Given the description of an element on the screen output the (x, y) to click on. 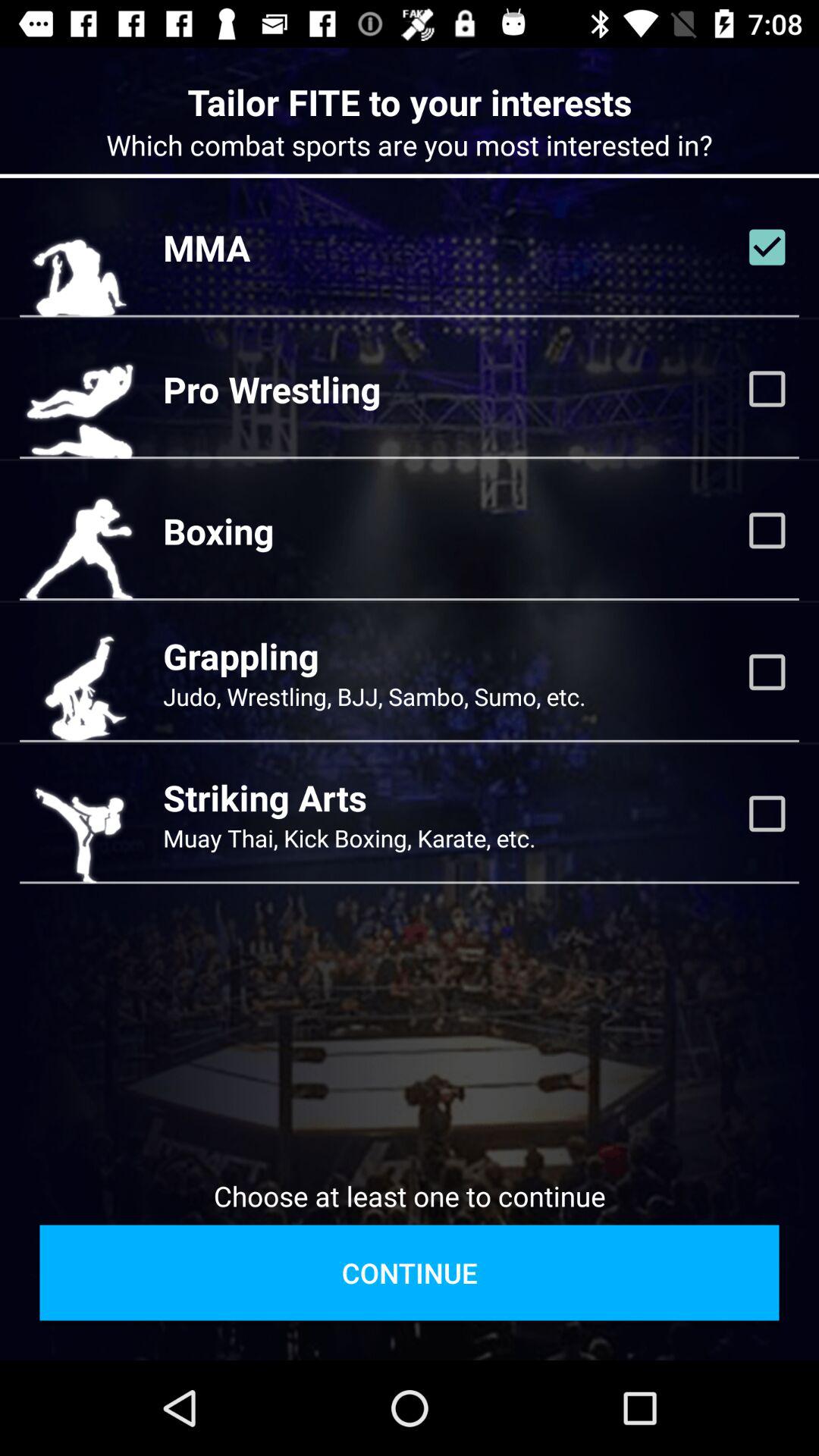
tap the judo wrestling bjj (374, 696)
